Given the description of an element on the screen output the (x, y) to click on. 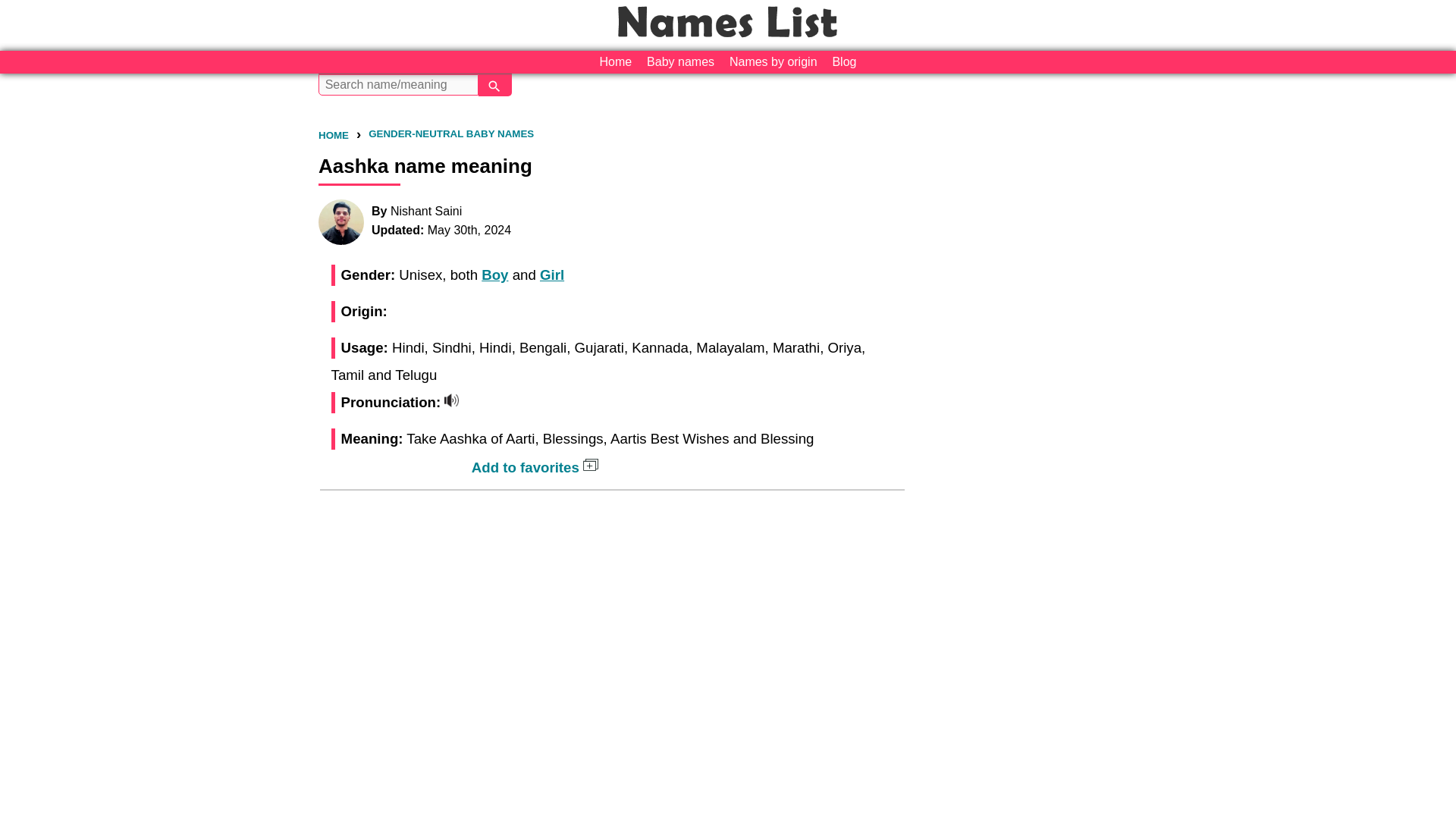
Baby names (680, 61)
Home (616, 61)
Girl (552, 274)
Boy (494, 274)
Names by origin (773, 61)
HOME (333, 134)
GENDER-NEUTRAL BABY NAMES (451, 133)
Blog (843, 61)
